Given the description of an element on the screen output the (x, y) to click on. 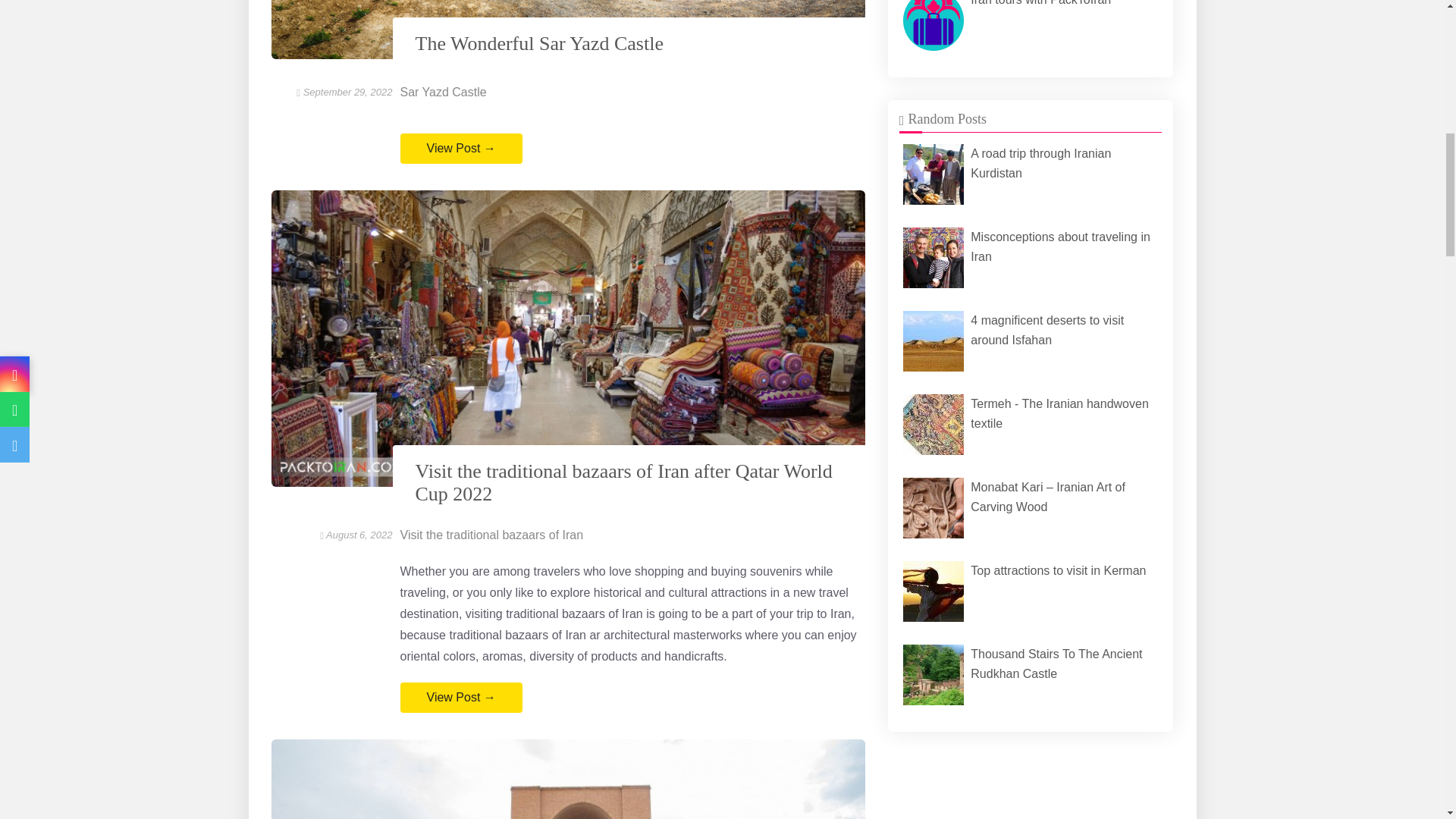
A road trip through Iranian Kurdistan (1030, 174)
Iran tours with PackToIran (932, 25)
A road trip through Iranian Kurdistan (932, 174)
Iran tours with PackToIran (1030, 27)
Misconceptions about traveling in Iran  (1030, 257)
